Given the description of an element on the screen output the (x, y) to click on. 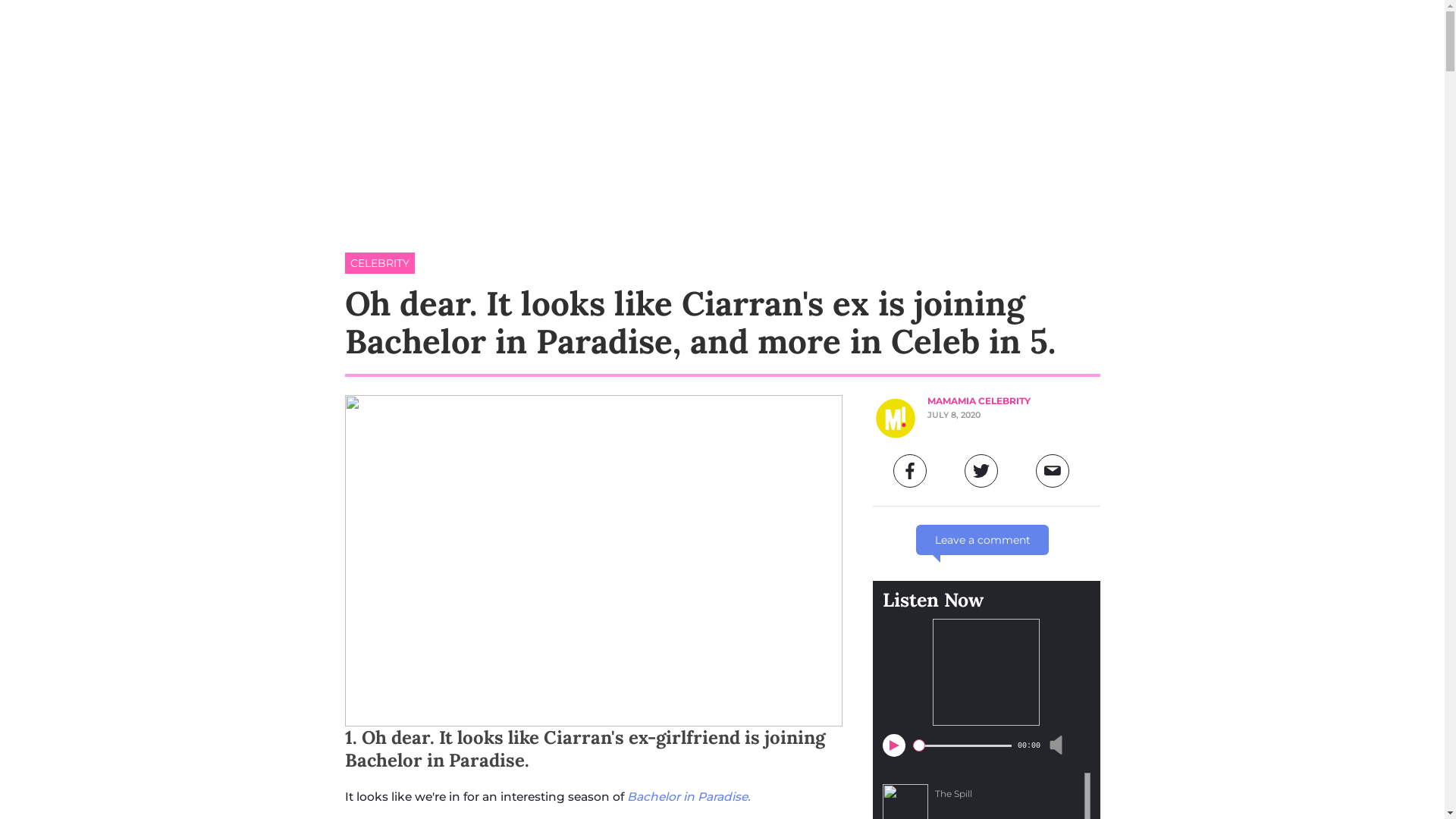
Bachelor in Paradise.  Element type: text (689, 796)
CELEBRITY Element type: text (379, 262)
Listen Now Element type: text (932, 599)
MAMAMIA CELEBRITY Element type: text (977, 400)
Share via e-mail Element type: text (1052, 470)
Share via facebook Element type: text (909, 470)
Share via twitter Element type: text (980, 470)
